Given the description of an element on the screen output the (x, y) to click on. 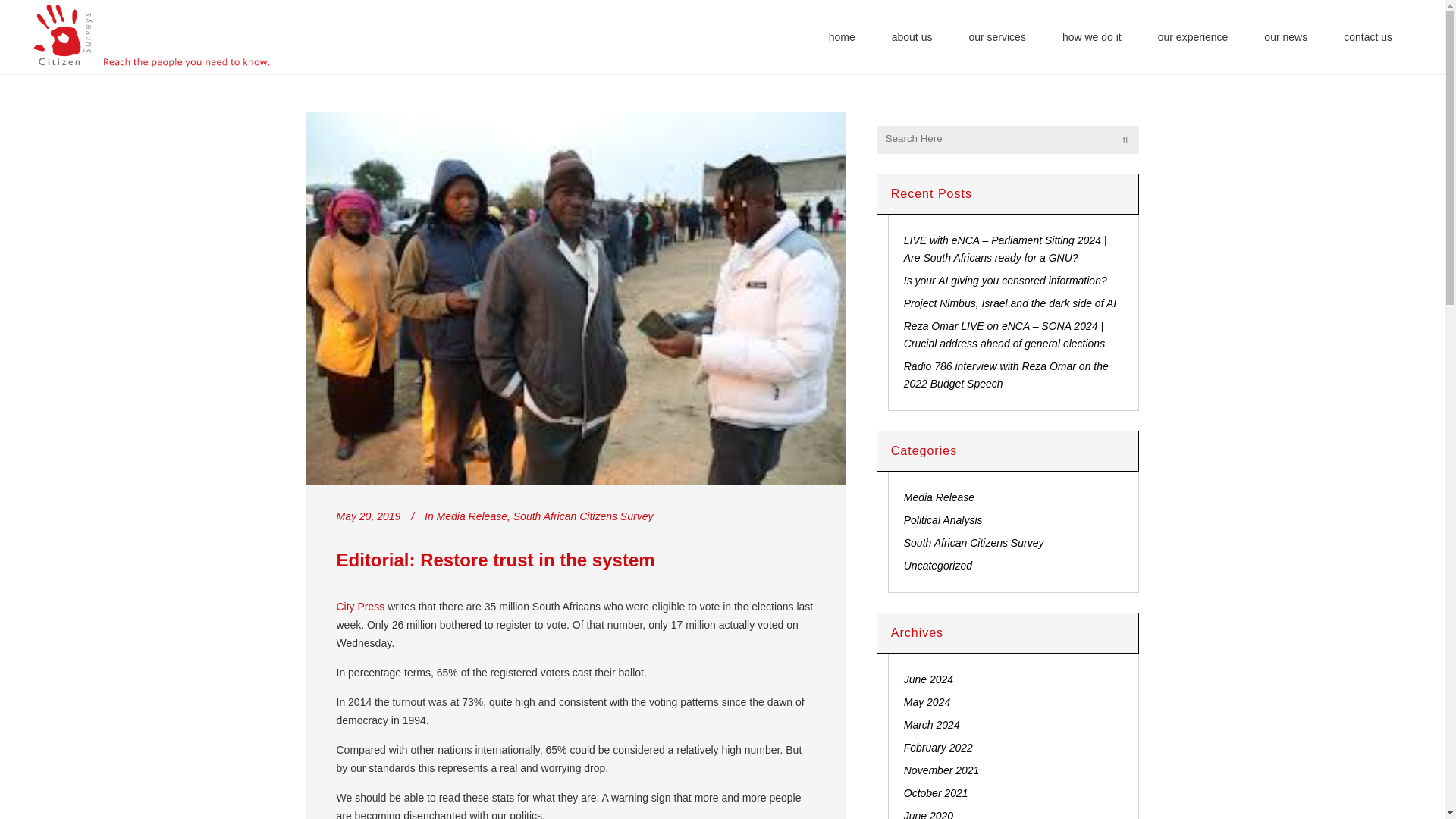
our services (996, 37)
our news (1285, 37)
our experience (1193, 37)
about us (911, 37)
contact us (1367, 37)
how we do it (1091, 37)
